Given the description of an element on the screen output the (x, y) to click on. 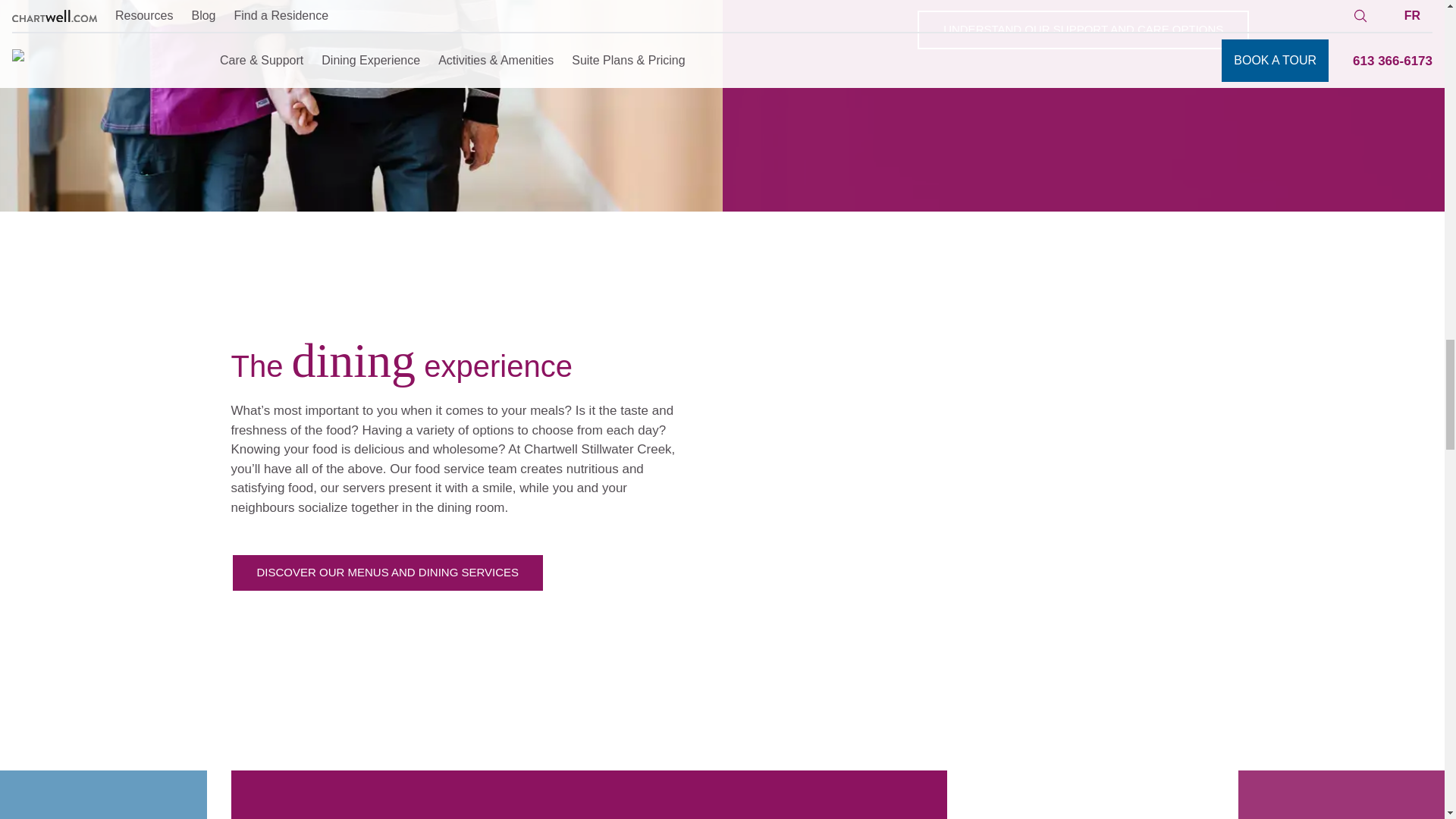
DISCOVER OUR MENUS AND DINING SERVICES (387, 572)
Understand our support and care options (1083, 29)
